Given the description of an element on the screen output the (x, y) to click on. 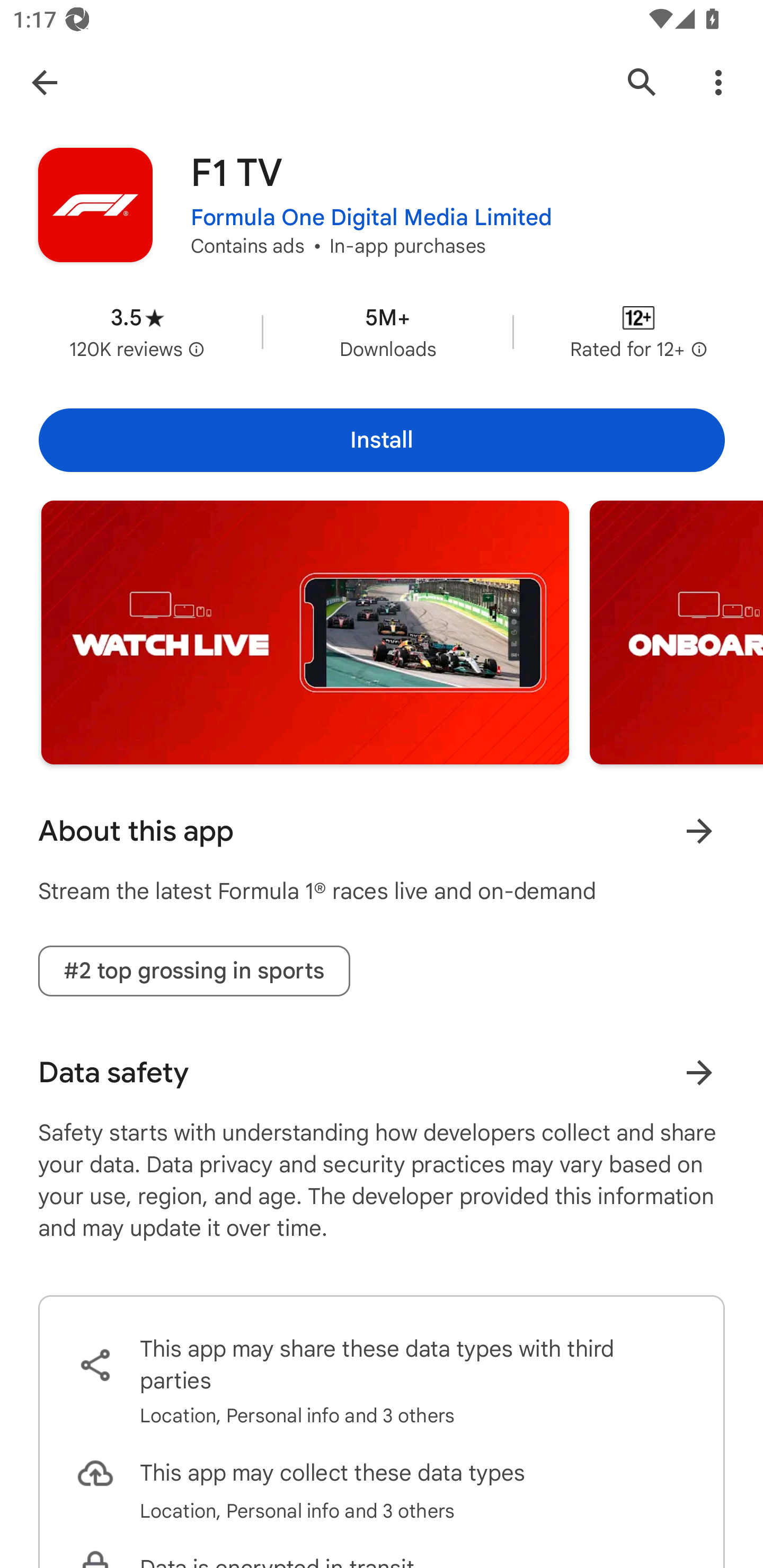
Navigate up (44, 81)
Search Google Play (642, 81)
More Options (718, 81)
Formula One Digital Media Limited (371, 217)
Average rating 3.5 stars in 120 thousand reviews (137, 331)
Content rating Rated for 12+ (638, 331)
Install (381, 439)
Screenshot "1" of "5" (305, 632)
About this app Learn more About this app (381, 830)
Learn more About this app (699, 830)
#2 top grossing in sports tag (194, 970)
Data safety Learn more about data safety (381, 1072)
Learn more about data safety (699, 1072)
